Given the description of an element on the screen output the (x, y) to click on. 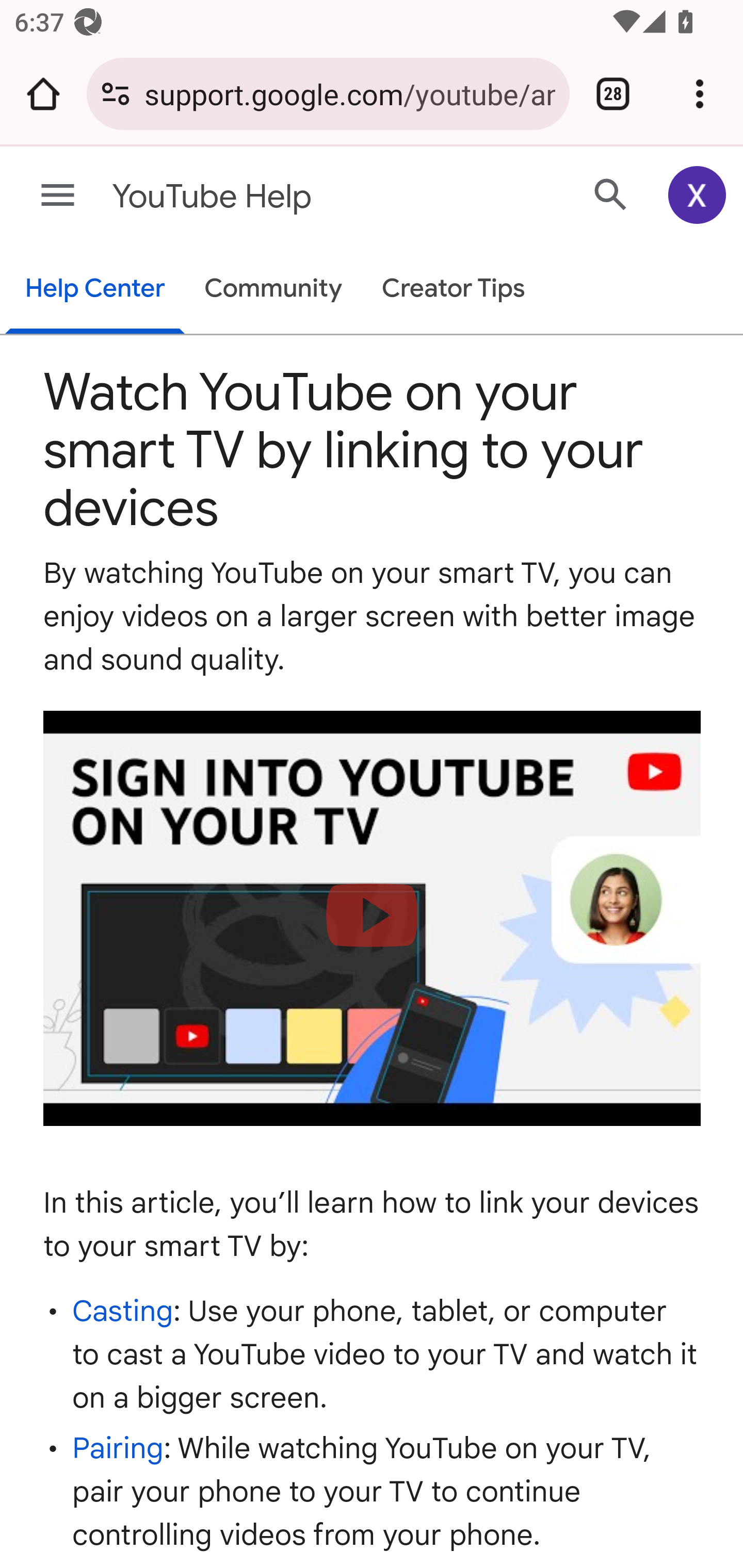
Open the home page (43, 93)
Connection is secure (115, 93)
Switch or close tabs (612, 93)
Customize and control Google Chrome (699, 93)
support.google.com/youtube/answer/7640706?hl=%@ (349, 92)
Main menu (58, 195)
YouTube Help (292, 197)
Search Help Center (611, 194)
Google Account: Xiaoran (zxrappiumtest@gmail.com) (697, 195)
Help Center (94, 289)
Community (273, 289)
Creator Tips (453, 289)
Load video (372, 918)
Casting (123, 1310)
Pairing (118, 1448)
